Given the description of an element on the screen output the (x, y) to click on. 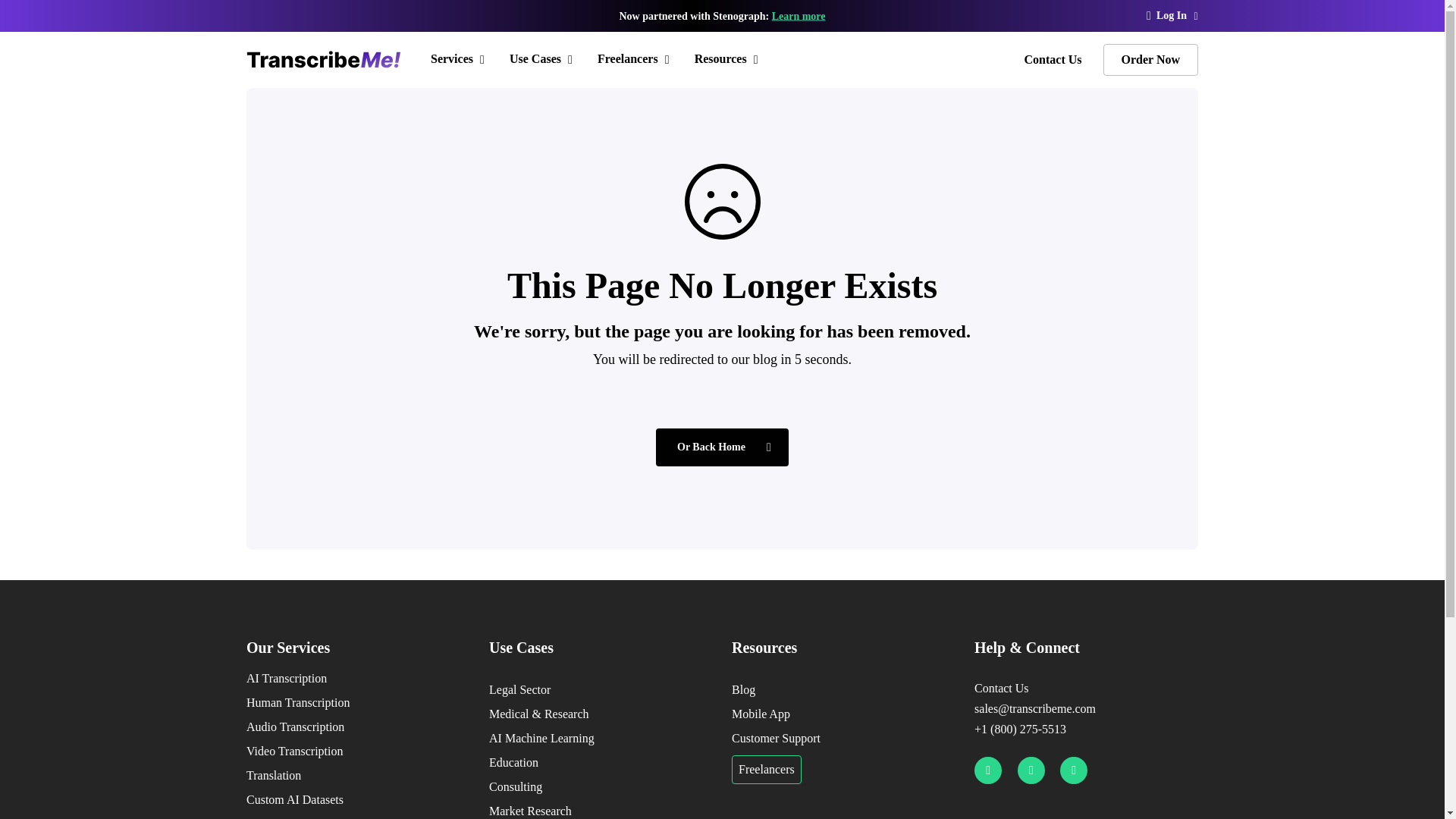
Services (458, 59)
Audio Transcription (358, 727)
Contact Us (1053, 59)
Use Cases (542, 59)
Resources (727, 59)
Or Back Home (722, 447)
AI Transcription (358, 678)
Human Transcription (358, 702)
Log In (1172, 15)
Learn more (798, 16)
Our Services (358, 647)
Freelancers (634, 59)
Order Now (1150, 60)
